Given the description of an element on the screen output the (x, y) to click on. 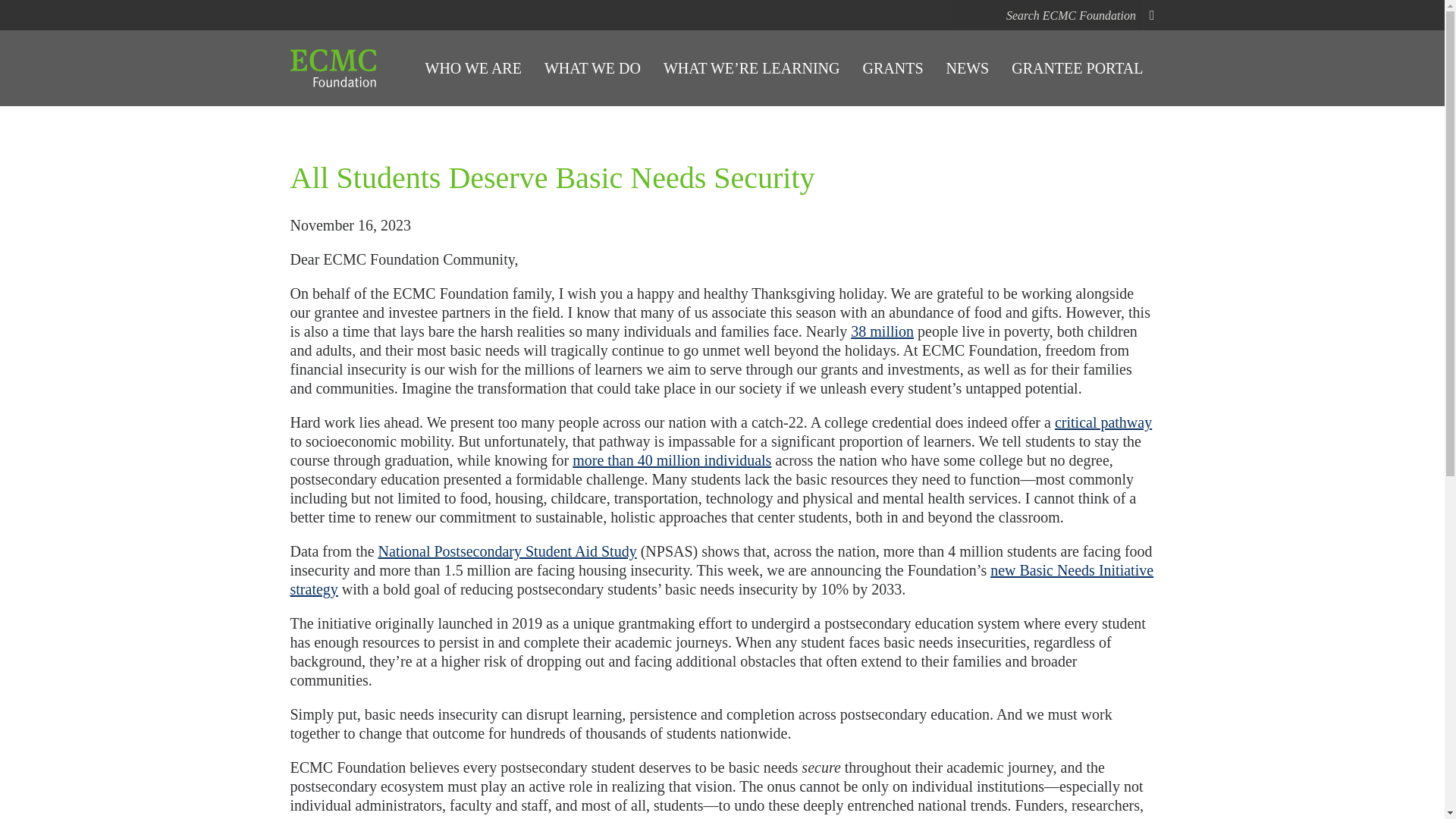
38 million (882, 330)
WHO WE ARE (473, 67)
WHAT WE DO (592, 67)
NEWS (968, 67)
National Postsecondary Student Aid Study (507, 550)
GRANTEE PORTAL (1076, 67)
more than 40 million individuals (671, 460)
GRANTS (893, 67)
critical pathway (1102, 422)
new Basic Needs Initiative strategy (721, 579)
